Given the description of an element on the screen output the (x, y) to click on. 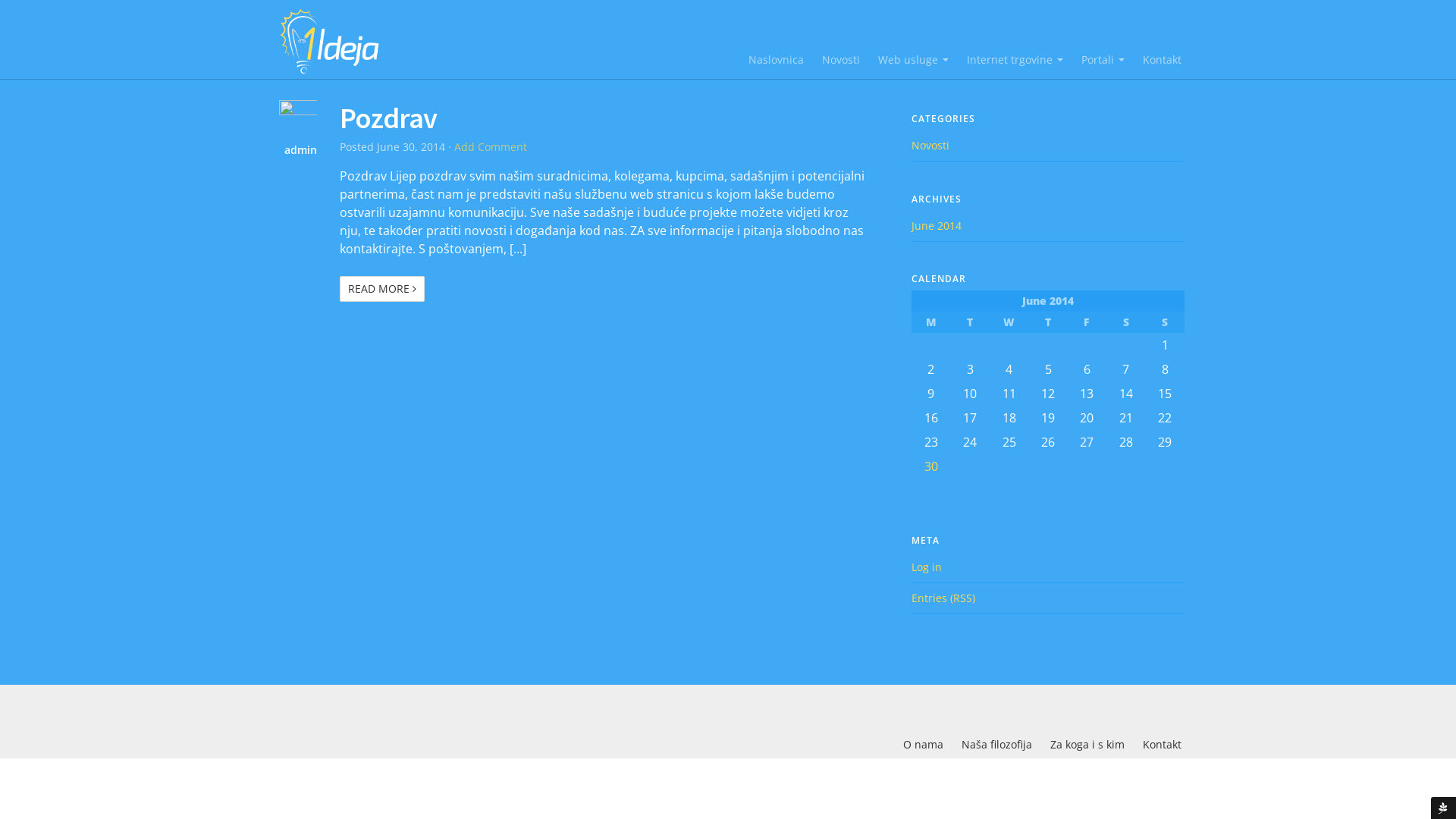
Log in Element type: text (926, 566)
Kontakt Element type: text (1161, 744)
READ MORE Element type: text (381, 288)
Web usluge Element type: text (913, 59)
Novosti Element type: text (930, 145)
Kontakt Element type: text (1161, 59)
Naslovnica Element type: text (775, 59)
Za koga i s kim Element type: text (1087, 744)
Internet trgovine Element type: text (1014, 59)
Entries (RSS) Element type: text (943, 597)
Pozdrav Element type: text (387, 117)
1Ideja Element type: hover (332, 40)
Novosti Element type: text (840, 59)
O nama Element type: text (923, 744)
June 2014 Element type: text (936, 225)
admin Element type: text (289, 150)
30 Element type: text (931, 466)
Add Comment Element type: text (490, 146)
Portali Element type: text (1102, 59)
